Given the description of an element on the screen output the (x, y) to click on. 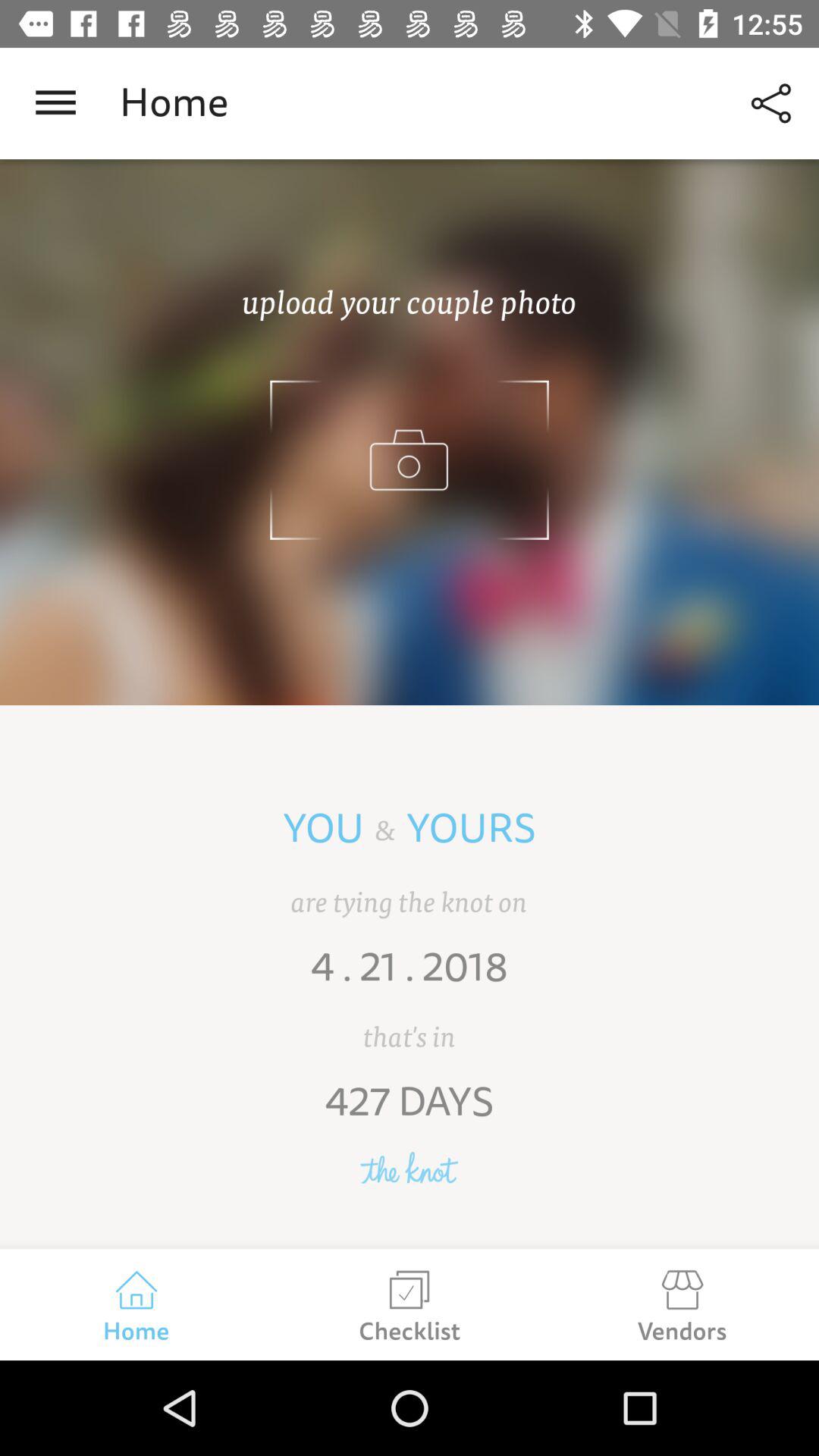
upload photo (409, 432)
